Given the description of an element on the screen output the (x, y) to click on. 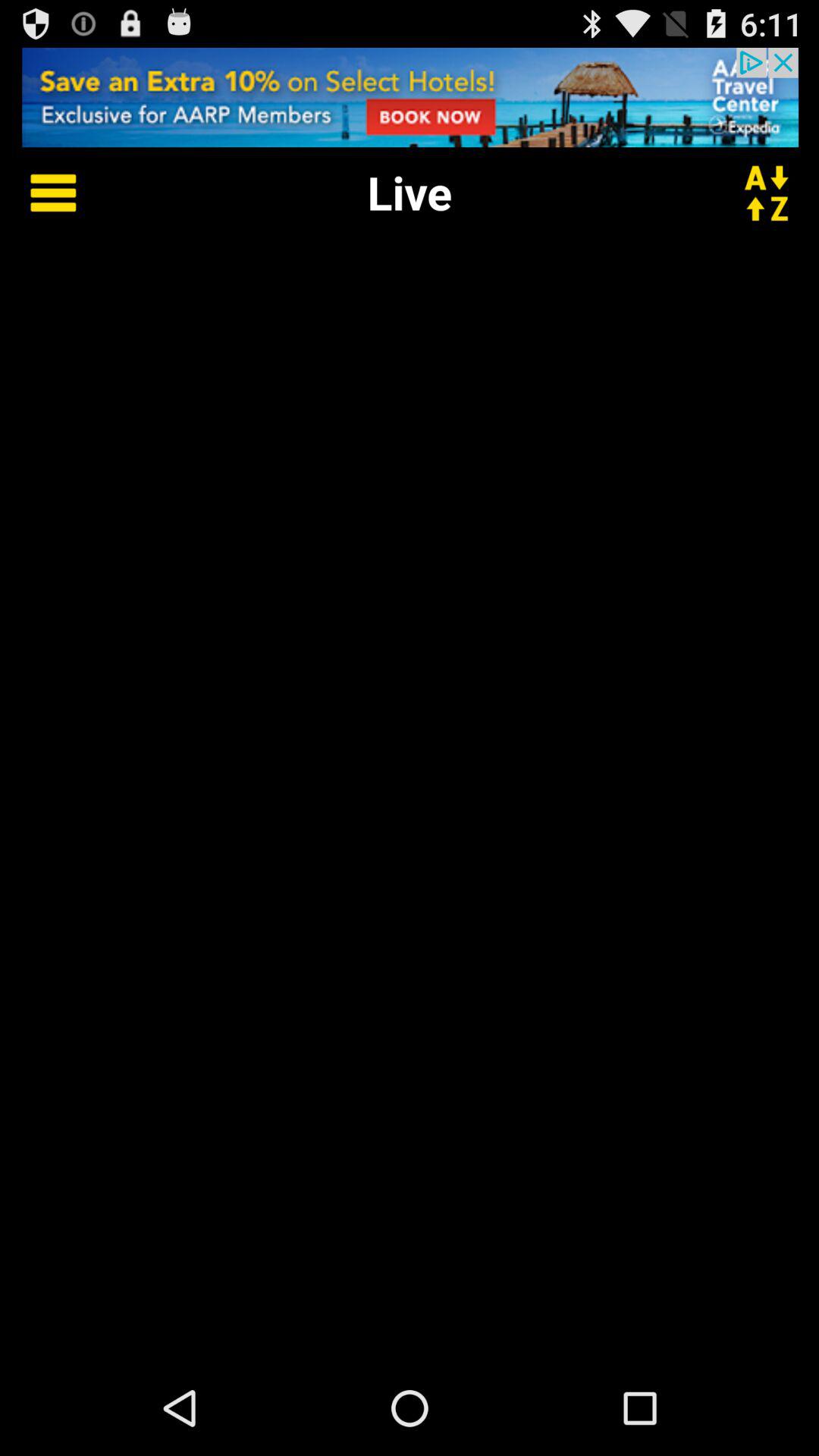
view menu (42, 192)
